Given the description of an element on the screen output the (x, y) to click on. 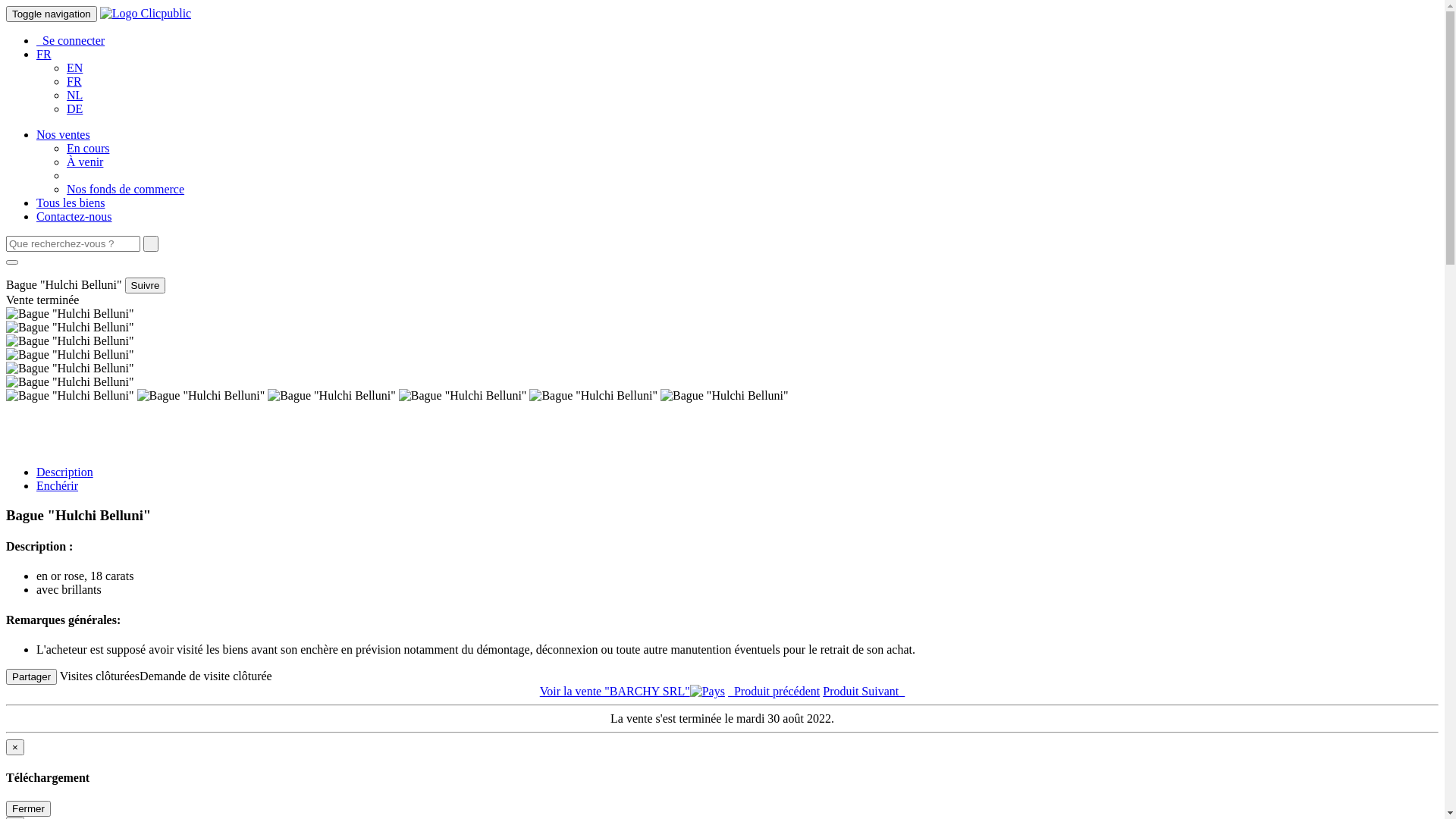
Bague "Hulchi Belluni" Element type: hover (70, 368)
  Element type: text (150, 243)
Bague "Hulchi Belluni" Element type: hover (201, 395)
Partager Element type: text (31, 676)
Toggle navigation Element type: text (51, 13)
Rechercher Element type: hover (12, 262)
Bague "Hulchi Belluni" Element type: hover (724, 395)
Suivre Element type: text (145, 285)
Contactez-nous Element type: text (74, 216)
FR Element type: text (43, 53)
Bague "Hulchi Belluni" Element type: hover (593, 395)
Bague "Hulchi Belluni" Element type: hover (70, 313)
NL Element type: text (74, 94)
EN Element type: text (74, 67)
Voir la vente "BARCHY SRL" Element type: text (631, 690)
Bague "Hulchi Belluni" Element type: hover (70, 327)
Tous les biens Element type: text (70, 202)
Description Element type: text (64, 471)
Bague "Hulchi Belluni" Element type: hover (331, 395)
Nos fonds de commerce Element type: text (125, 188)
FR Element type: text (73, 81)
Bague "Hulchi Belluni" Element type: hover (70, 341)
Produit Suivant   Element type: text (863, 690)
Bague "Hulchi Belluni" Element type: hover (70, 395)
Nos ventes Element type: text (63, 134)
Bague "Hulchi Belluni" Element type: hover (70, 354)
  Se connecter Element type: text (70, 40)
DE Element type: text (74, 108)
En cours Element type: text (87, 147)
Fermer Element type: text (28, 808)
Rechercher Element type: hover (150, 243)
Bague "Hulchi Belluni" Element type: hover (462, 395)
Bague "Hulchi Belluni" Element type: hover (70, 382)
